Given the description of an element on the screen output the (x, y) to click on. 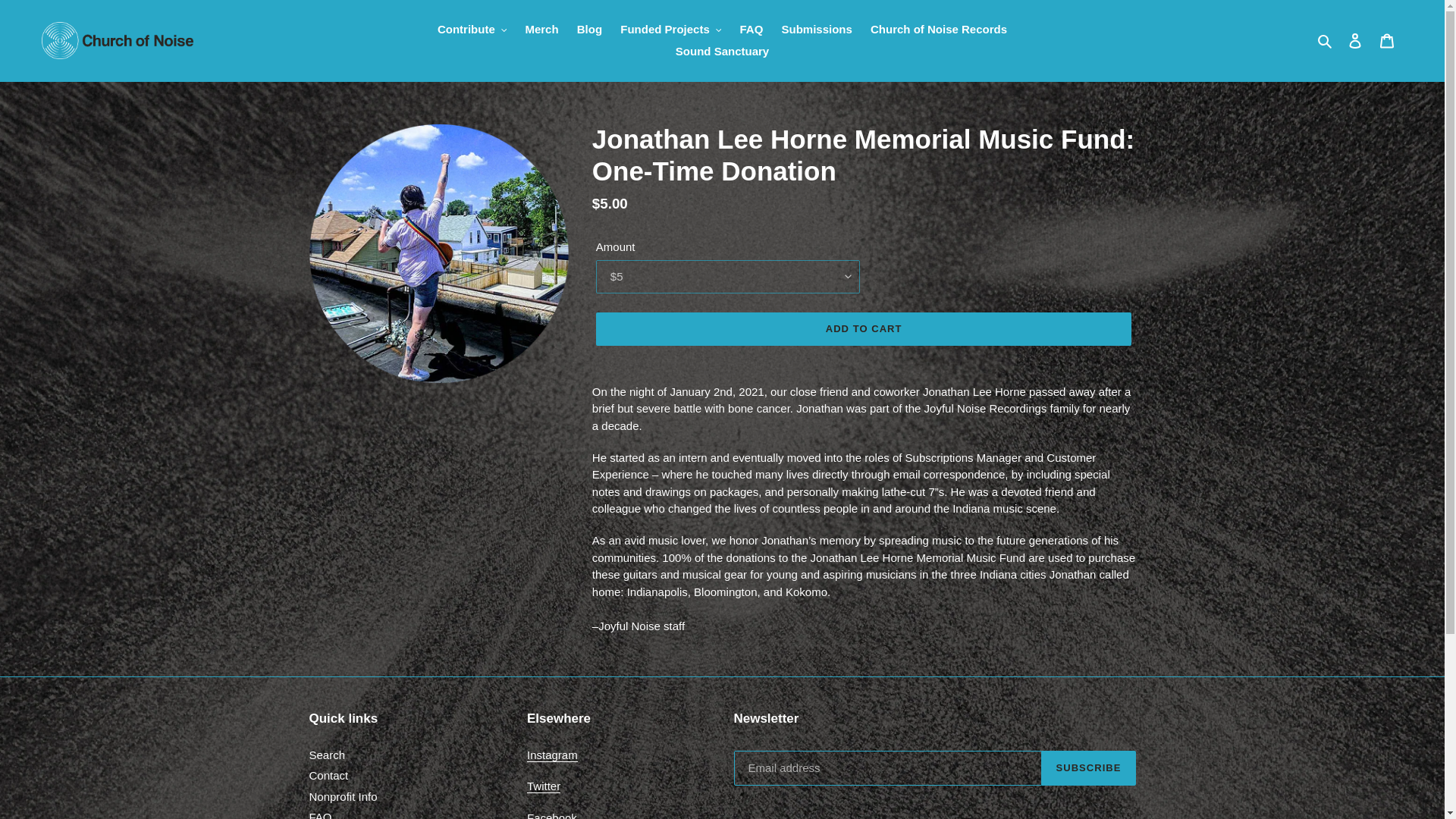
Merch (541, 29)
Submissions (816, 29)
FAQ (751, 29)
Funded Projects (670, 29)
Search (1326, 40)
Sound Sanctuary (722, 51)
Church of Noise on Facebook (551, 815)
Church of Noise on Instagram (552, 755)
Blog (589, 29)
Log in (1355, 40)
Church of Noise Records (1387, 40)
Contribute (938, 29)
Church of Noise on Twitter (471, 29)
